Given the description of an element on the screen output the (x, y) to click on. 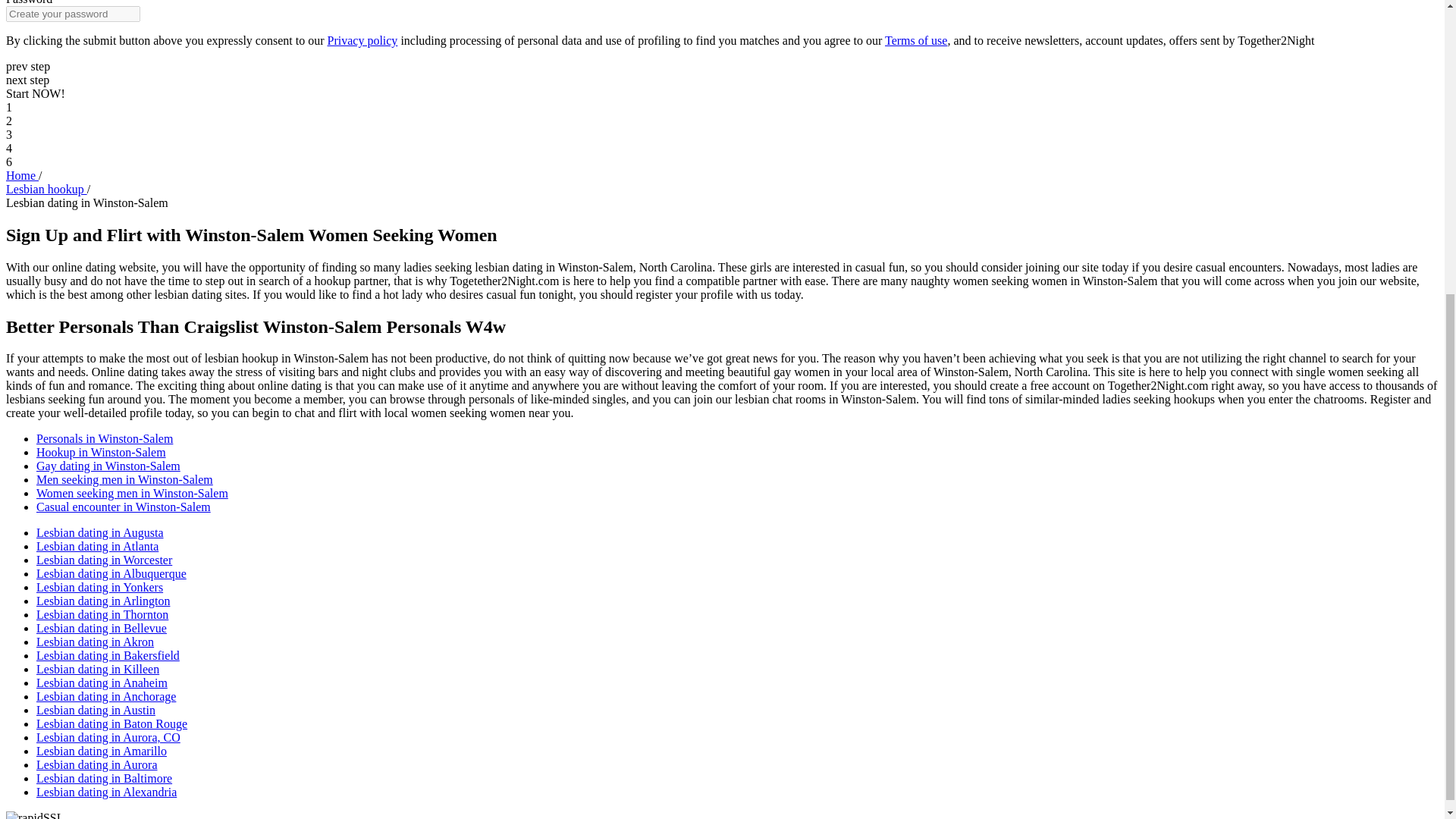
Lesbian dating in Akron (95, 641)
Lesbian dating in Aurora, CO (108, 737)
Home (22, 174)
Lesbian dating in Bellevue (101, 627)
Lesbian dating in Worcester (103, 559)
Personals in Winston-Salem (104, 438)
Men seeking men in Winston-Salem (124, 479)
Lesbian dating in Austin (95, 709)
Lesbian dating in Killeen (97, 668)
Lesbian dating in Bakersfield (107, 655)
